Given the description of an element on the screen output the (x, y) to click on. 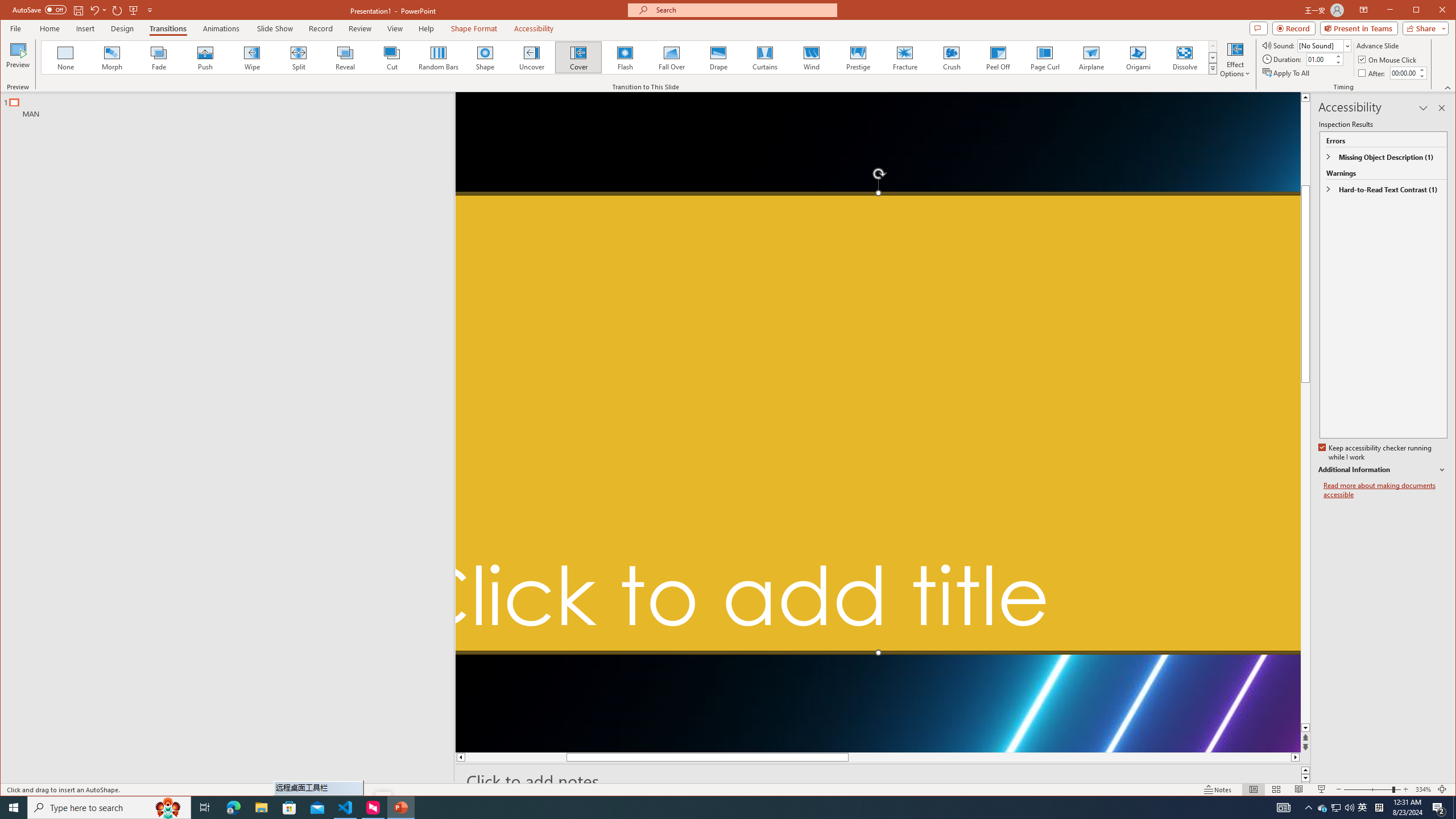
After (1372, 72)
Neon laser lights aligned to form a triangle (877, 421)
Curtains (764, 57)
Split (298, 57)
Dissolve (1184, 57)
